Given the description of an element on the screen output the (x, y) to click on. 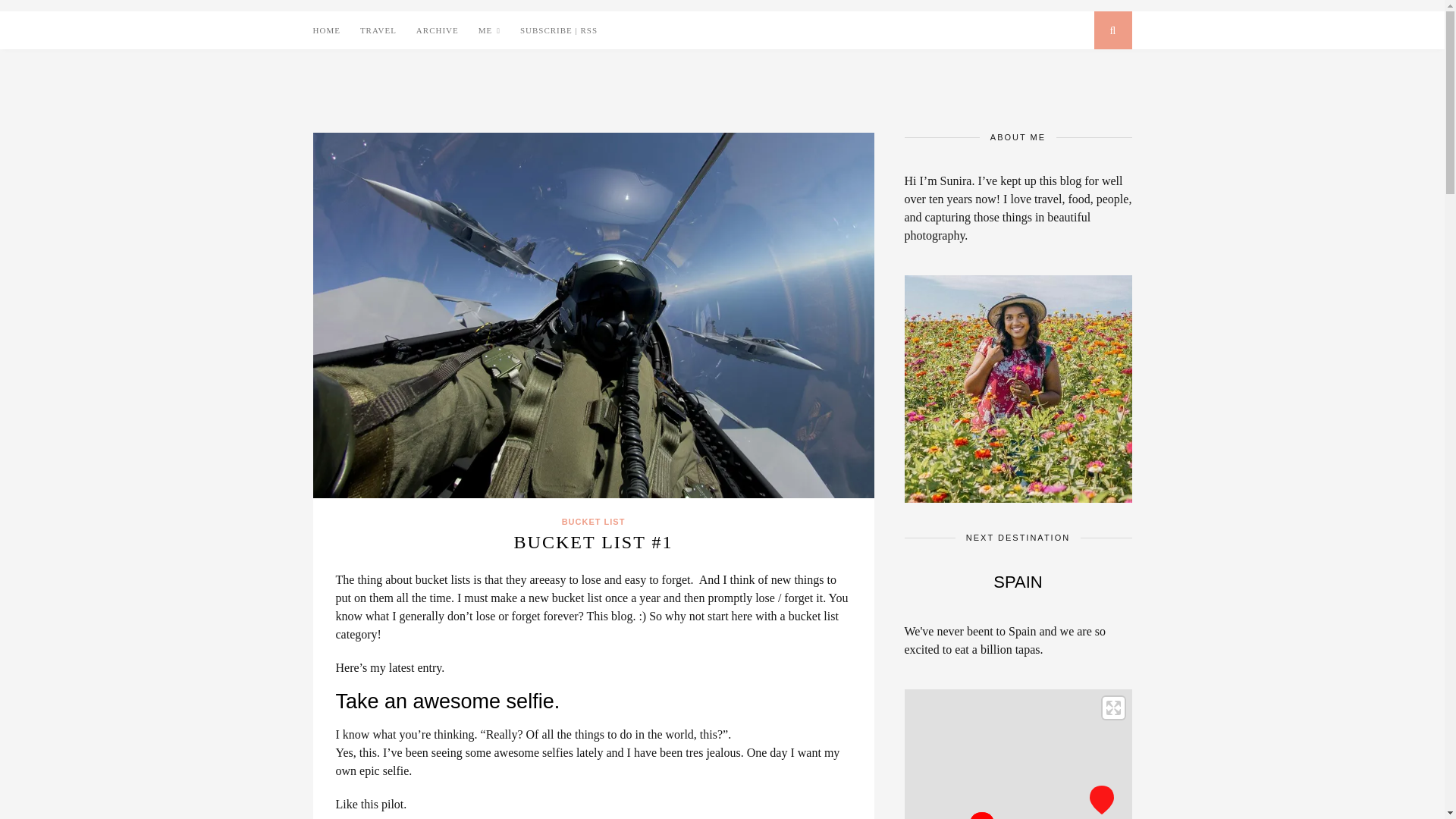
Enter fullscreen (1113, 707)
TRAVEL (377, 30)
ARCHIVE (437, 30)
BUCKET LIST (594, 521)
